Given the description of an element on the screen output the (x, y) to click on. 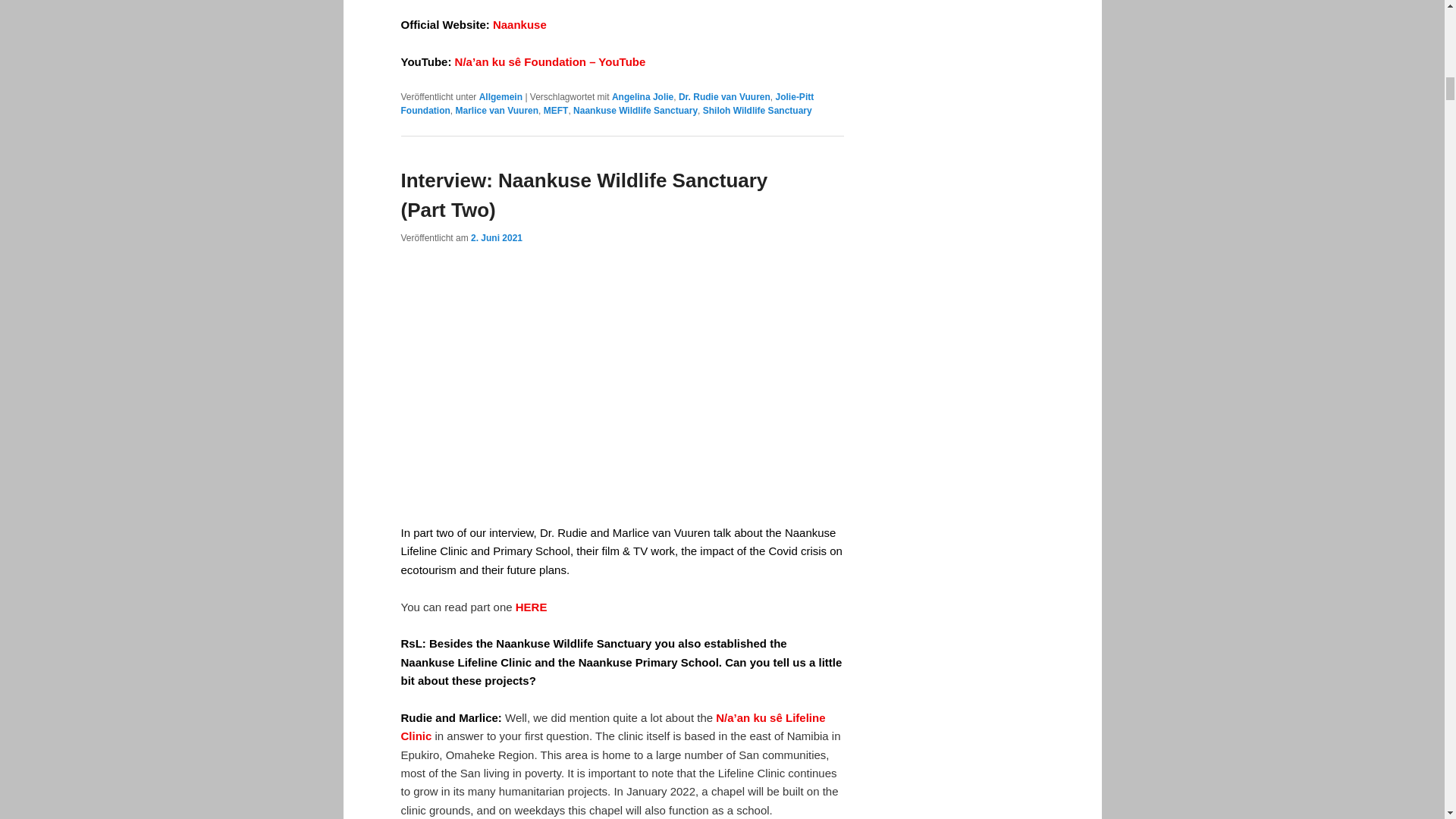
Marlice van Vuuren (496, 110)
2. Juni 2021 (496, 237)
HERE (531, 606)
Naankuse (520, 24)
Naankuse Wildlife Sanctuary (635, 110)
Angelina Jolie (641, 96)
Allgemein (500, 96)
Shiloh Wildlife Sanctuary (757, 110)
MEFT (556, 110)
Jolie-Pitt Foundation (606, 103)
